Given the description of an element on the screen output the (x, y) to click on. 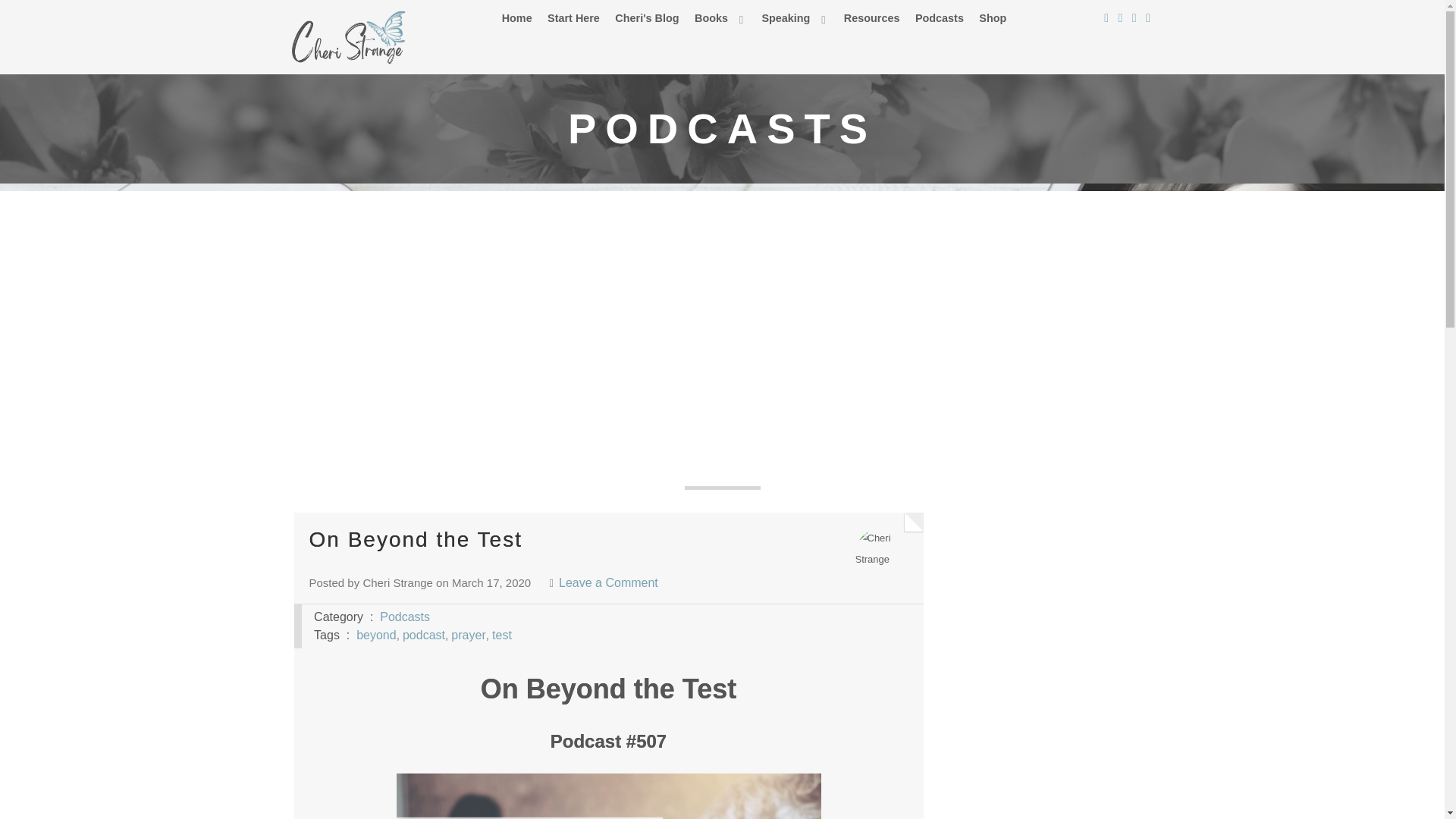
Books (719, 17)
Leave a Comment (608, 582)
Cheri Strange (882, 553)
Speaking (794, 17)
Home (517, 18)
Cheri's Blog (646, 18)
Resources (871, 18)
Podcasts (939, 18)
Start Here (573, 18)
Podcasts (404, 616)
